Given the description of an element on the screen output the (x, y) to click on. 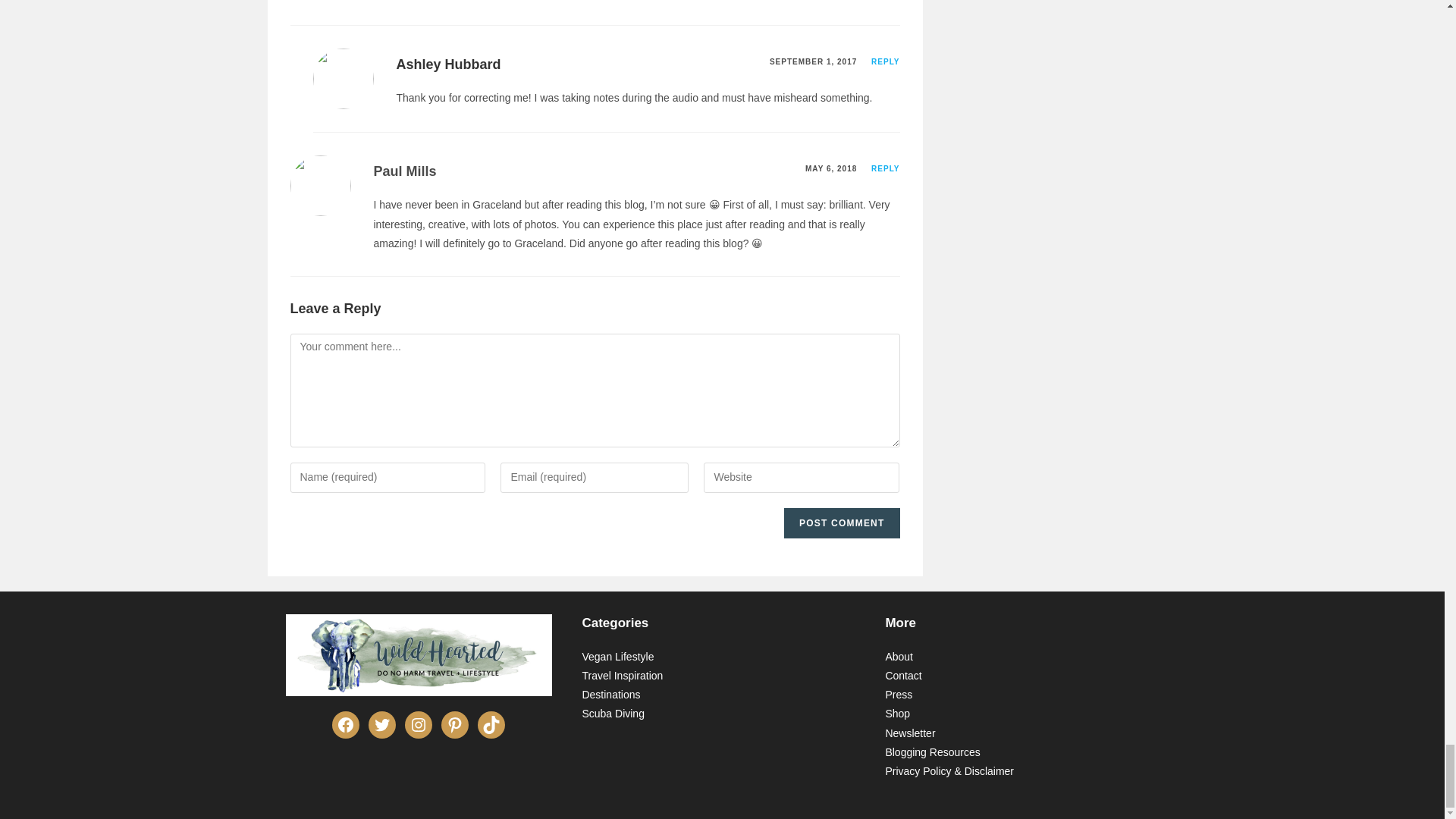
Post Comment (841, 522)
